Given the description of an element on the screen output the (x, y) to click on. 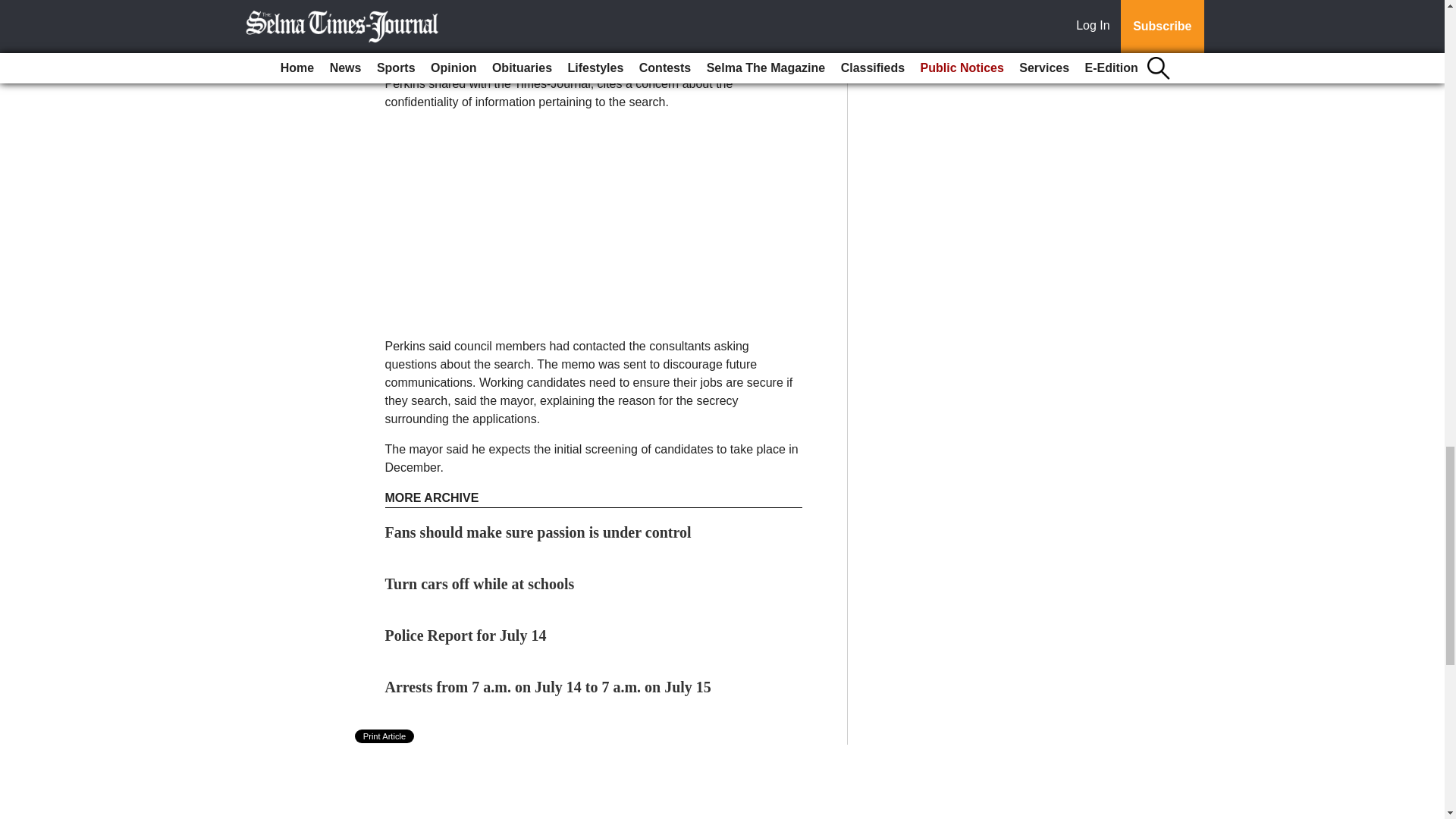
Turn cars off while at schools (480, 583)
Fans should make sure passion is under control (538, 532)
Fans should make sure passion is under control (538, 532)
Police Report for July 14 (466, 635)
Arrests from 7 a.m. on July 14 to 7 a.m. on July 15 (548, 686)
Print Article (384, 735)
Turn cars off while at schools (480, 583)
Police Report for July 14 (466, 635)
Arrests from 7 a.m. on July 14 to 7 a.m. on July 15 (548, 686)
